Given the description of an element on the screen output the (x, y) to click on. 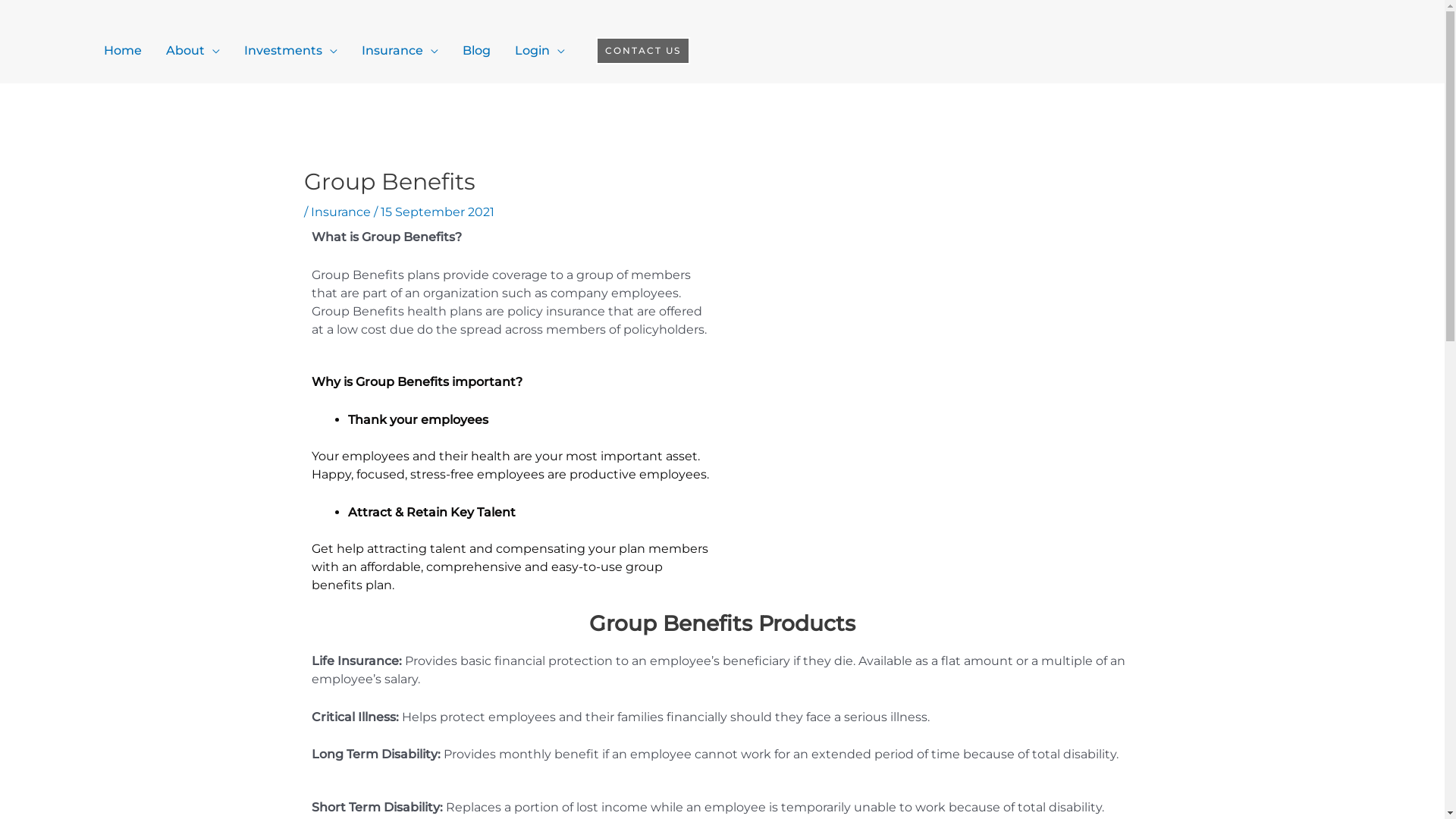
Blog Element type: text (476, 50)
About Element type: text (192, 50)
CONTACT US Element type: text (642, 50)
Login Element type: text (539, 50)
Insurance Element type: text (340, 211)
Investments Element type: text (290, 50)
Insurance Element type: text (399, 50)
Home Element type: text (122, 50)
